Given the description of an element on the screen output the (x, y) to click on. 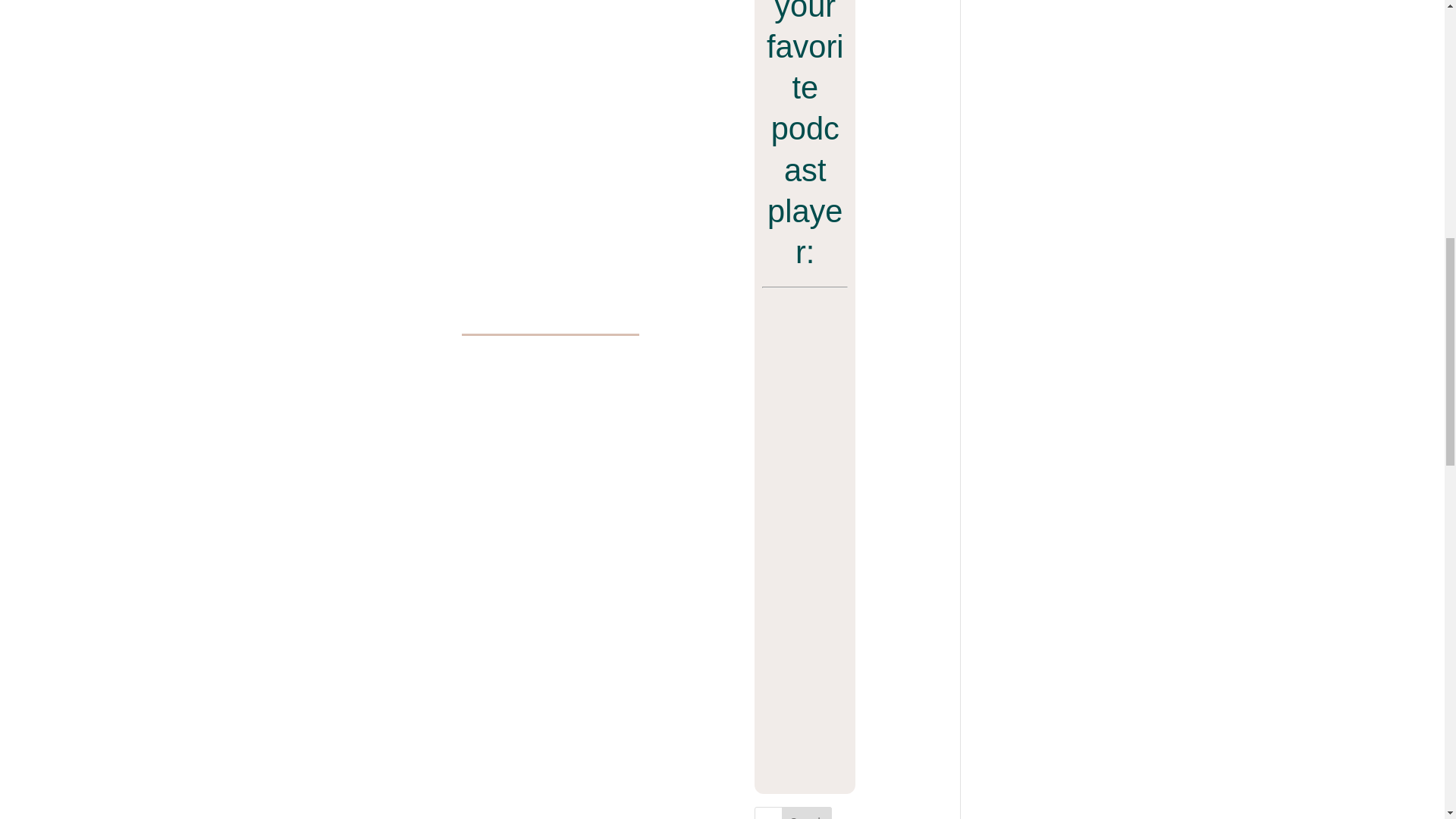
Search (806, 812)
Search (806, 812)
